Given the description of an element on the screen output the (x, y) to click on. 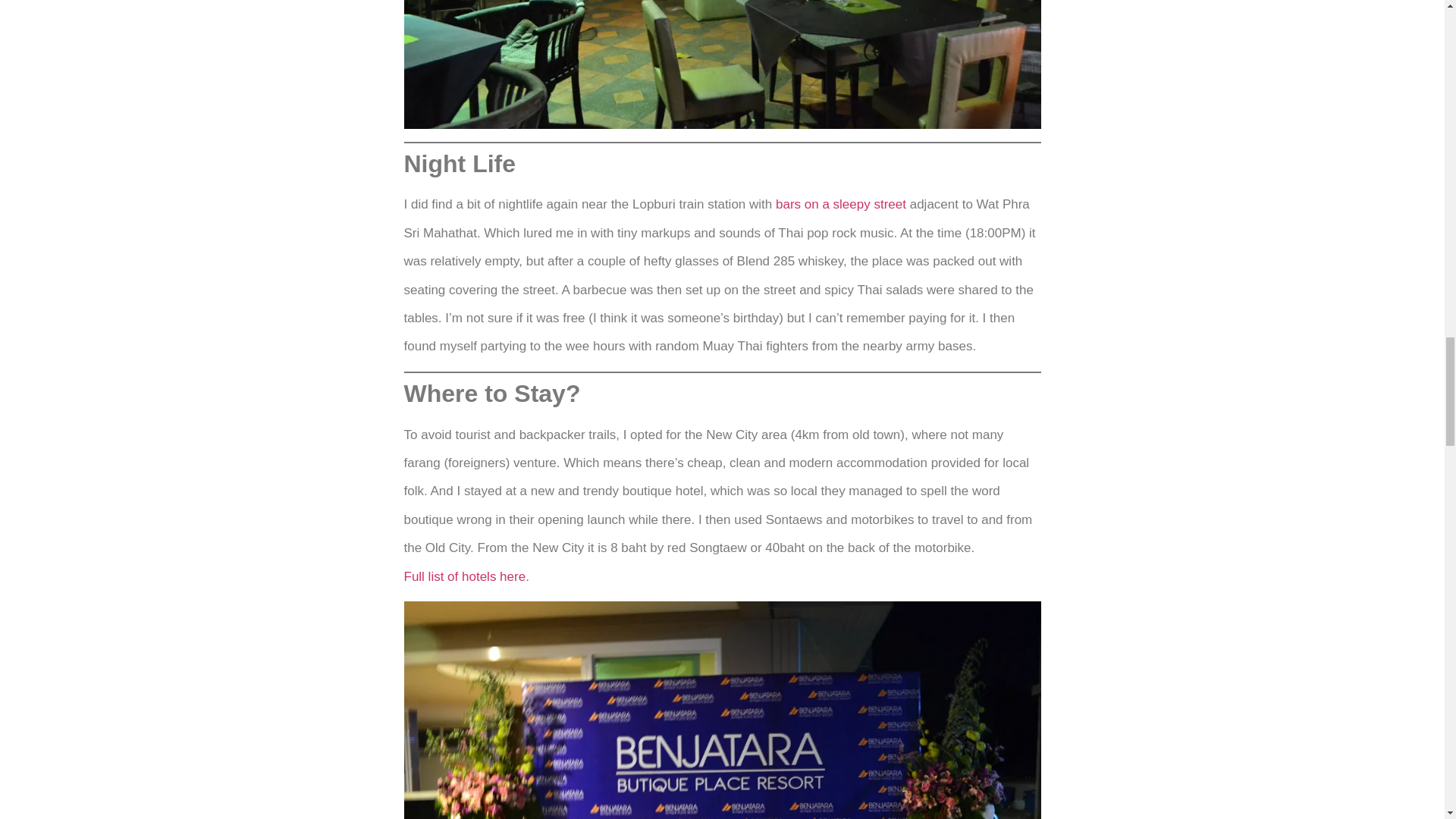
bars on a sleepy street (838, 204)
Full list of hotels here (464, 576)
